Given the description of an element on the screen output the (x, y) to click on. 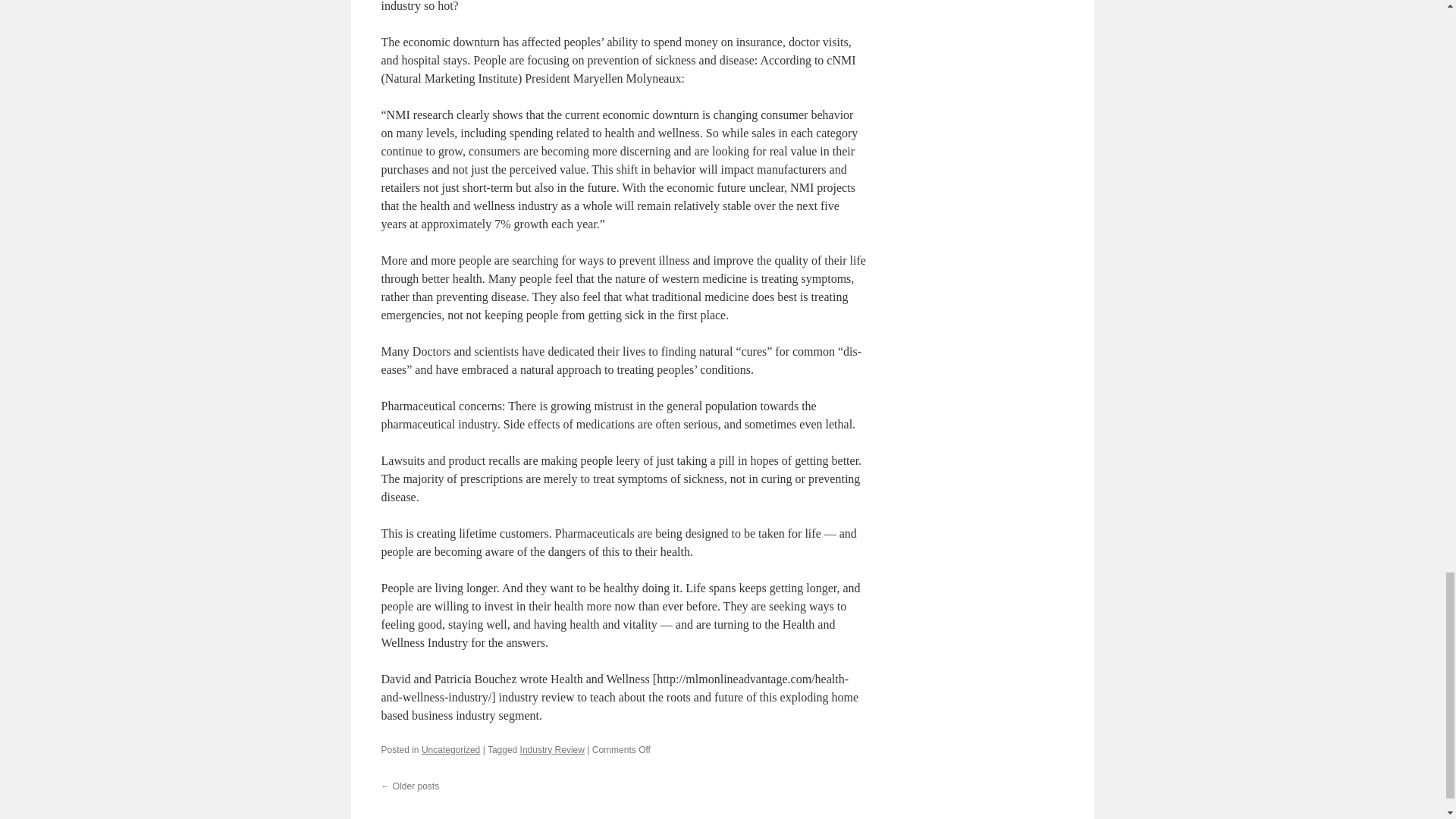
Industry Review (552, 749)
Uncategorized (451, 749)
View all posts in Uncategorized (451, 749)
